Given the description of an element on the screen output the (x, y) to click on. 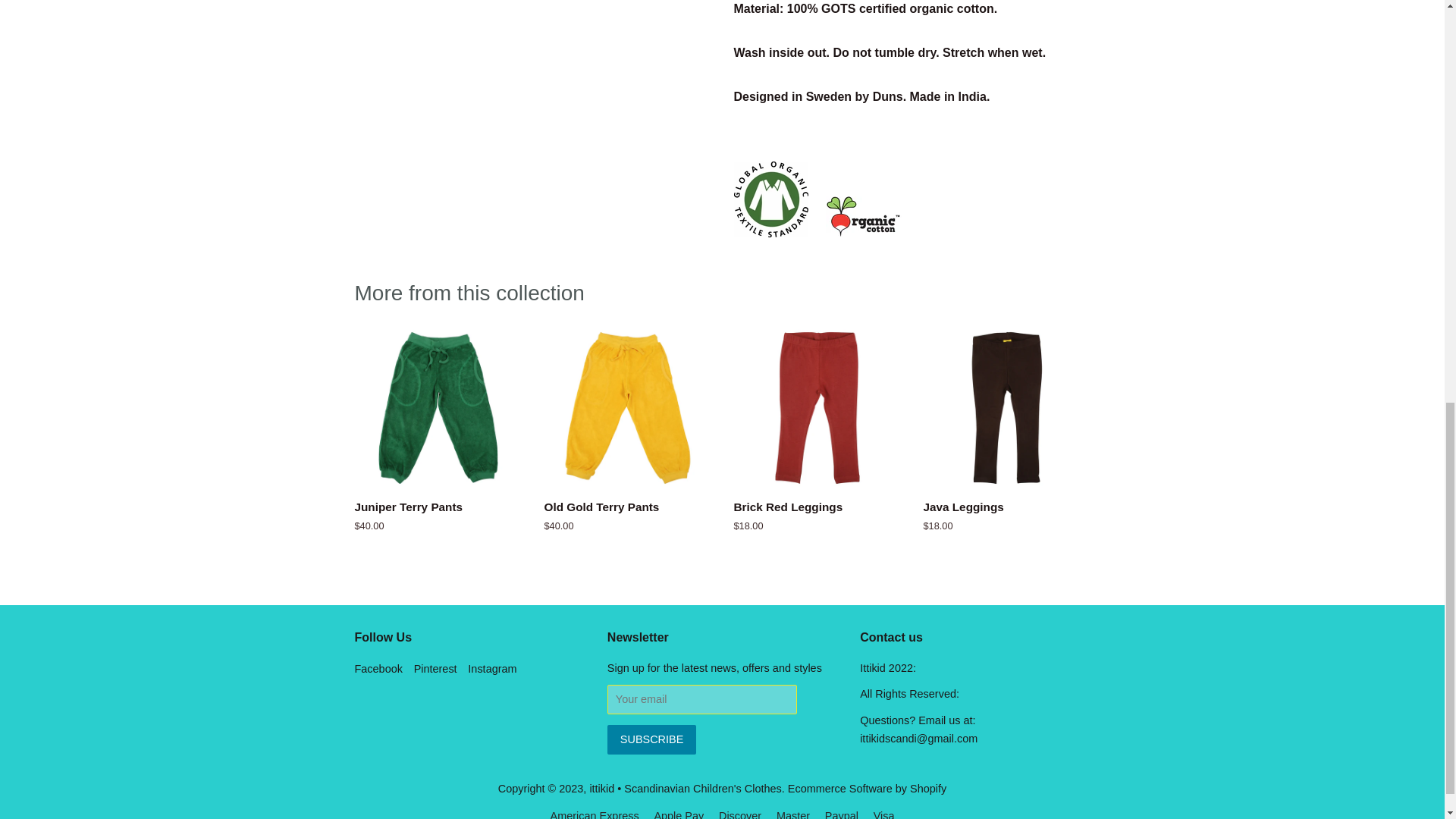
Subscribe (651, 739)
